Given the description of an element on the screen output the (x, y) to click on. 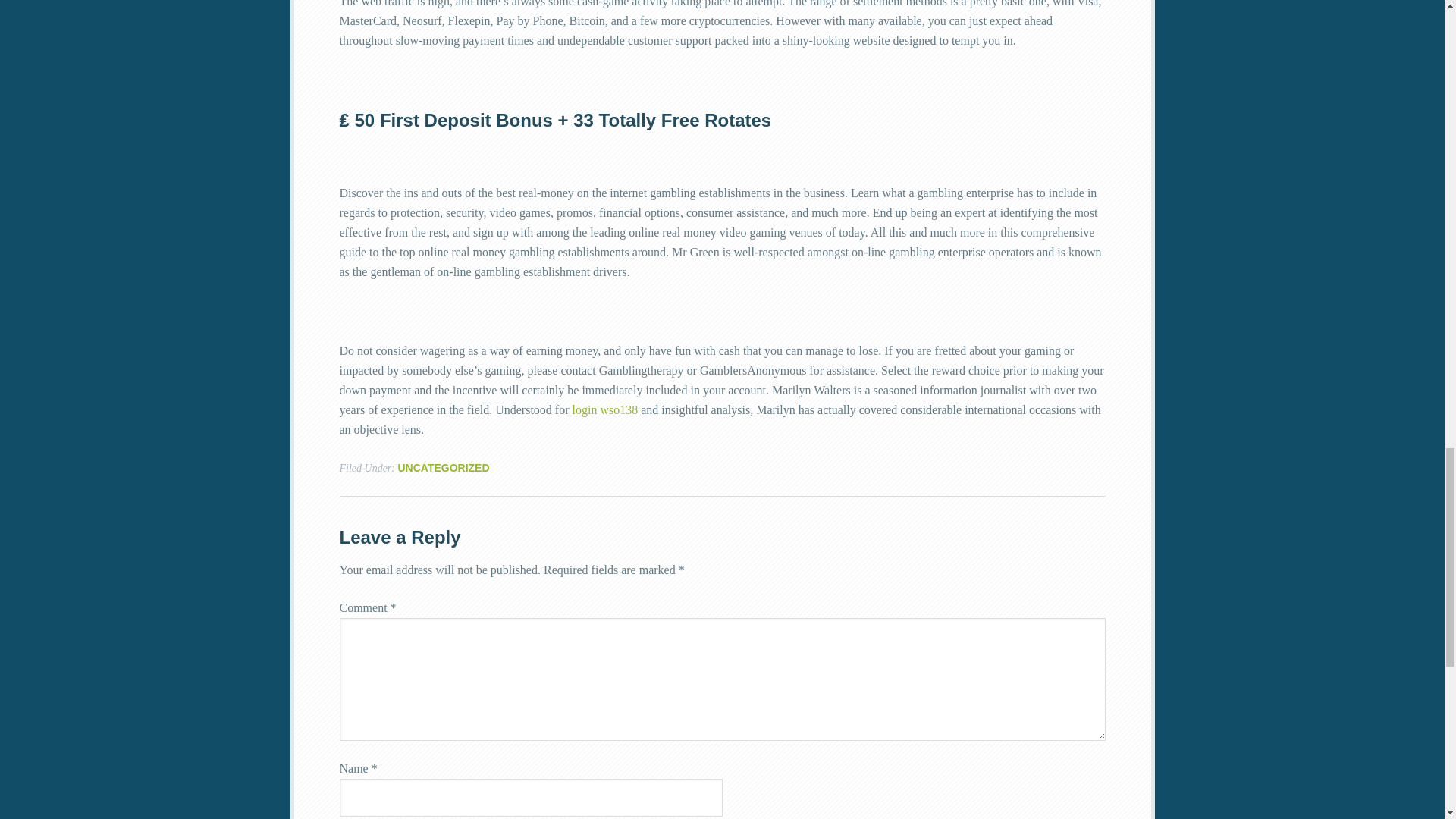
login wso138 (604, 409)
UNCATEGORIZED (443, 467)
